Given the description of an element on the screen output the (x, y) to click on. 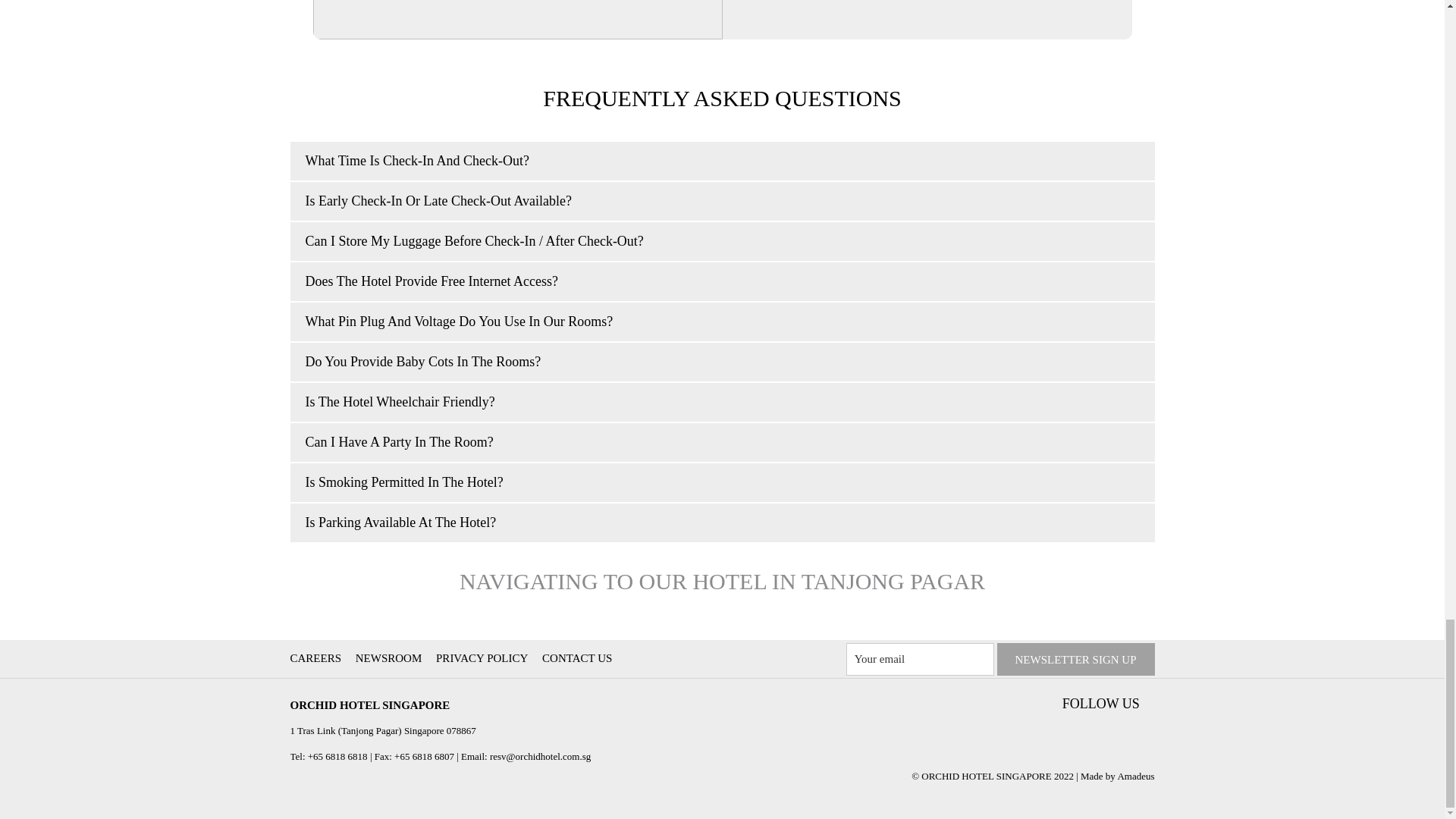
Is Early Check-In Or Late Check-Out Available? (721, 200)
Is Parking Available At The Hotel? (721, 522)
PRIVACY POLICY (483, 657)
What Time Is Check-In And Check-Out? (721, 160)
Made by Amadeus (1117, 776)
NEWSROOM (390, 657)
Do You Provide Baby Cots In The Rooms? (721, 362)
Is Smoking Permitted In The Hotel? (721, 482)
CONTACT US (578, 657)
What Pin Plug And Voltage Do You Use In Our Rooms? (721, 321)
CAREERS (317, 657)
Can I Have A Party In The Room? (721, 442)
Does The Hotel Provide Free Internet Access? (721, 281)
NEWSLETTER SIGN UP (1074, 658)
Is The Hotel Wheelchair Friendly? (721, 402)
